Given the description of an element on the screen output the (x, y) to click on. 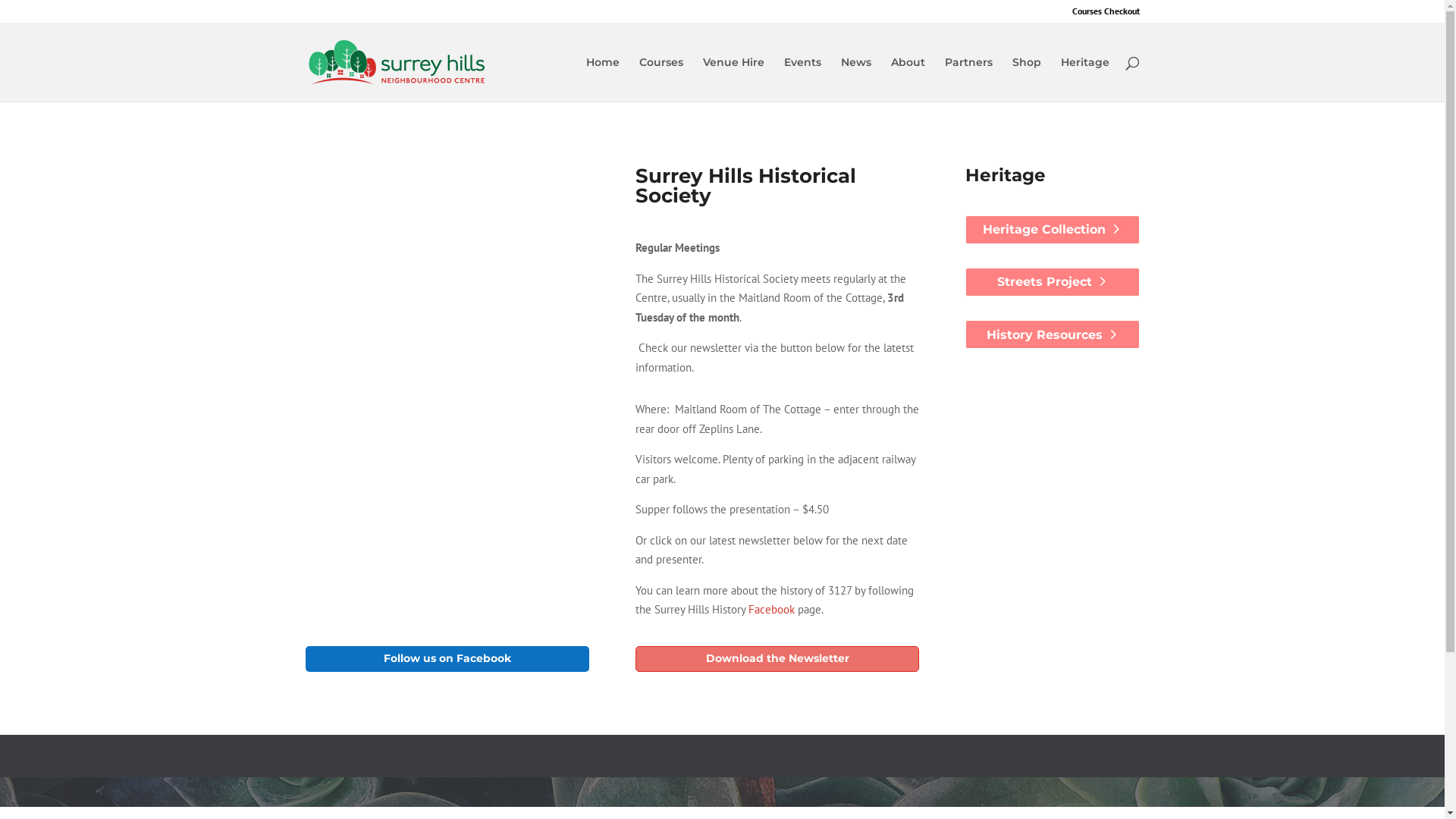
Heritage Element type: text (1084, 78)
Follow us on Facebook Element type: text (446, 658)
Courses Checkout Element type: text (1105, 14)
Shop Element type: text (1025, 78)
About Element type: text (907, 78)
Home Element type: text (601, 78)
Events Element type: text (802, 78)
Download the Newsletter Element type: text (777, 658)
Partners Element type: text (968, 78)
Streets Project Element type: text (1052, 282)
Courses Element type: text (660, 78)
Skip to content Element type: text (0, 0)
History Resources Element type: text (1052, 334)
Facebook Element type: text (771, 609)
Venue Hire Element type: text (732, 78)
News Element type: text (855, 78)
Heritage Collection Element type: text (1052, 229)
